Given the description of an element on the screen output the (x, y) to click on. 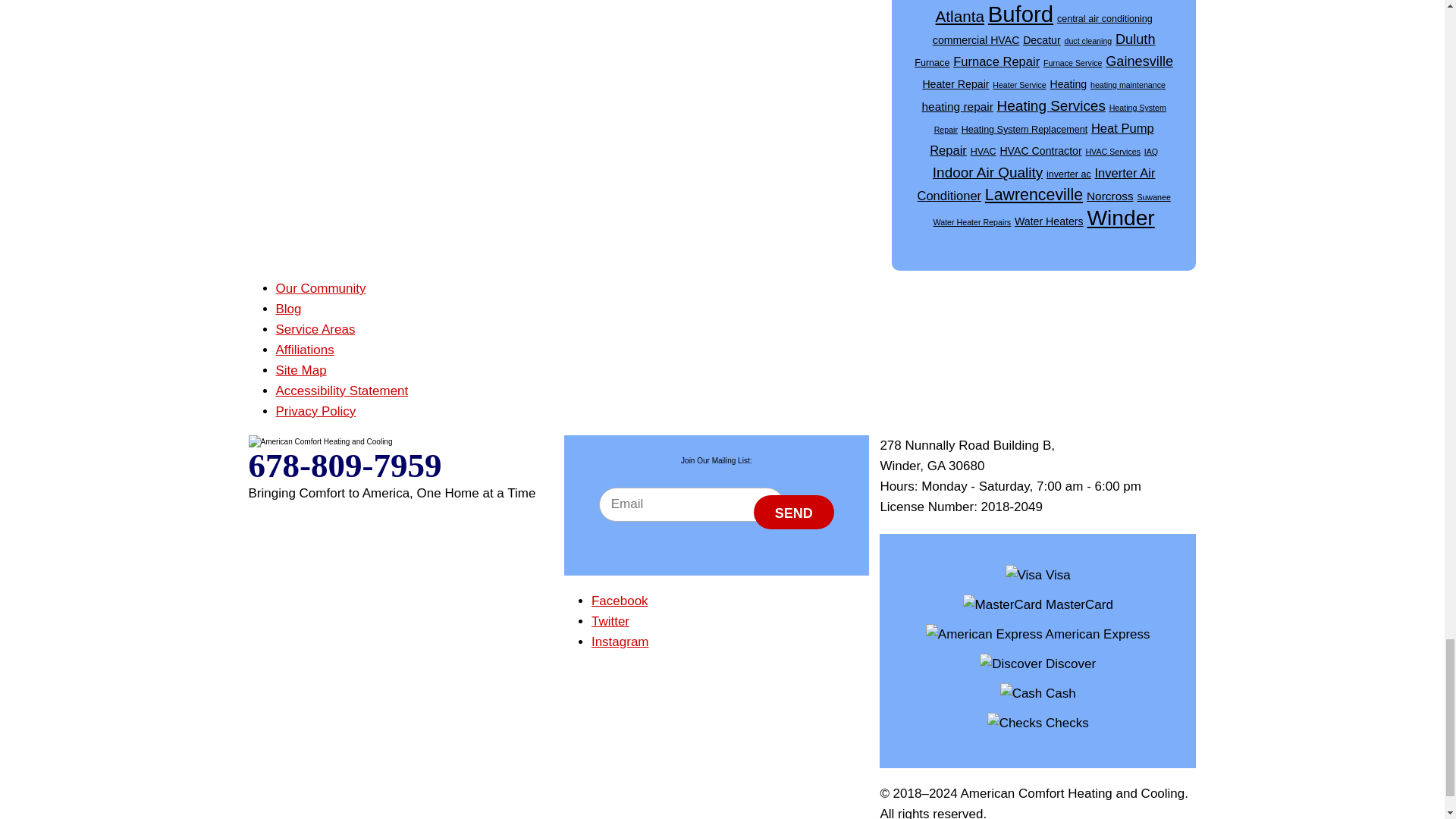
American Comfort Heating and Cooling on Instagram (620, 641)
American Comfort Heating and Cooling on Facebook (619, 600)
American Comfort Heating and Cooling on Twitter (609, 621)
